Given the description of an element on the screen output the (x, y) to click on. 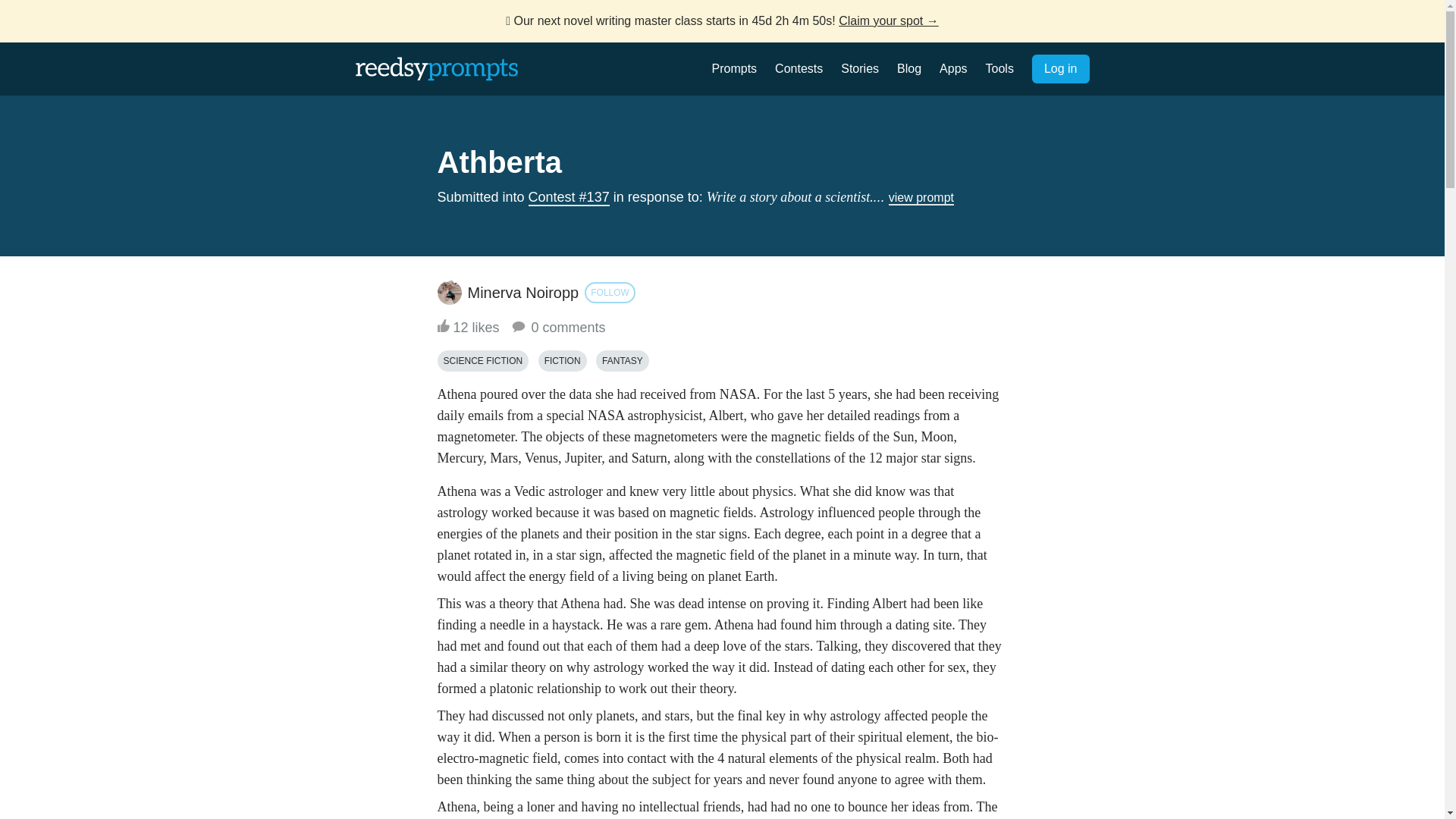
Stories (860, 68)
Tools (999, 68)
Blog (908, 68)
0 comments (557, 327)
Contests (798, 68)
Apps (952, 68)
Prompts (734, 68)
Log in (1060, 68)
